Given the description of an element on the screen output the (x, y) to click on. 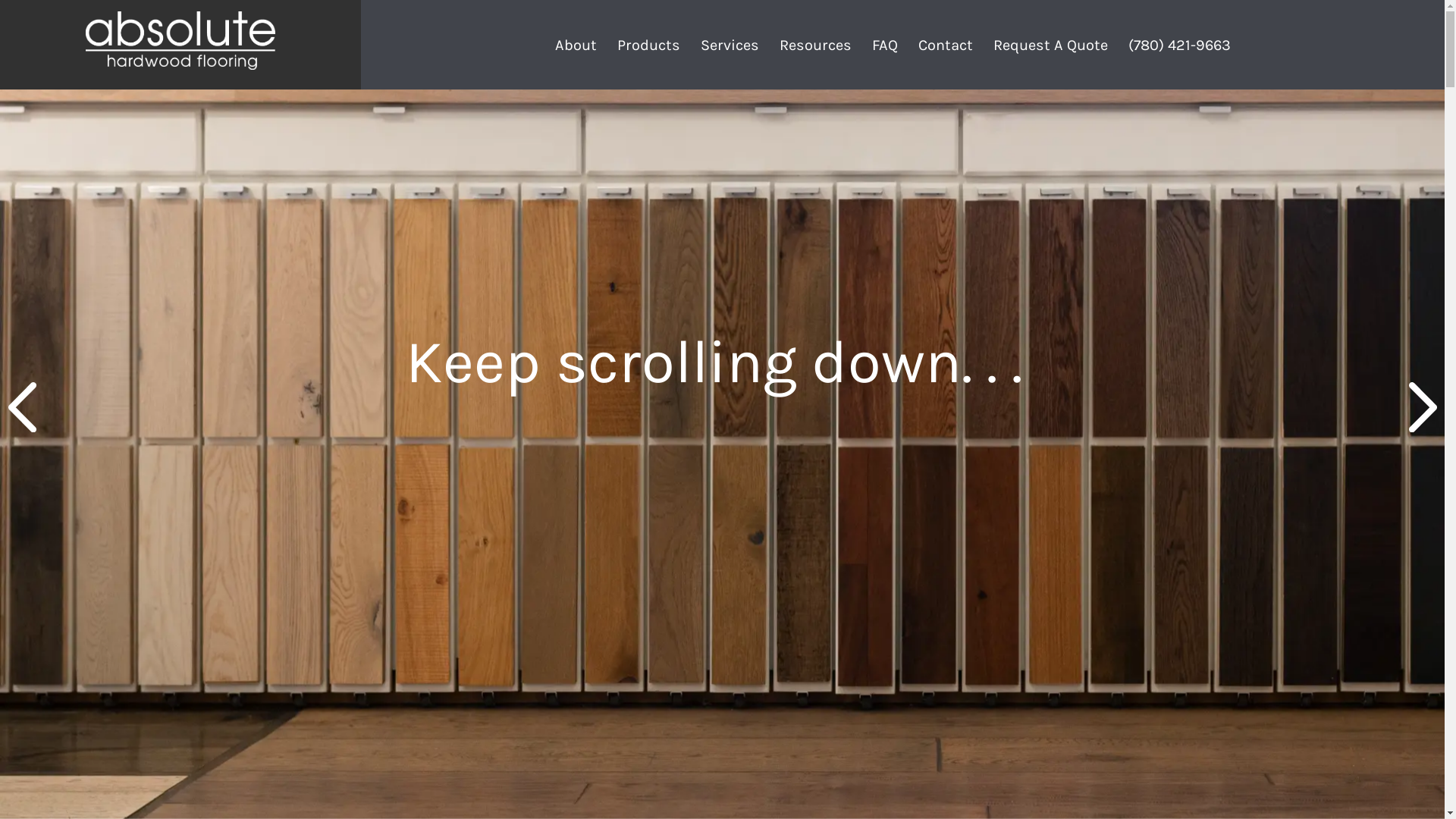
(780) 421-9663 Element type: text (1179, 44)
FAQ Element type: text (884, 44)
Contact Element type: text (945, 44)
About Element type: text (575, 44)
Request A Quote Element type: text (1050, 44)
Services Element type: text (729, 44)
Products Element type: text (648, 44)
Resources Element type: text (815, 44)
